Given the description of an element on the screen output the (x, y) to click on. 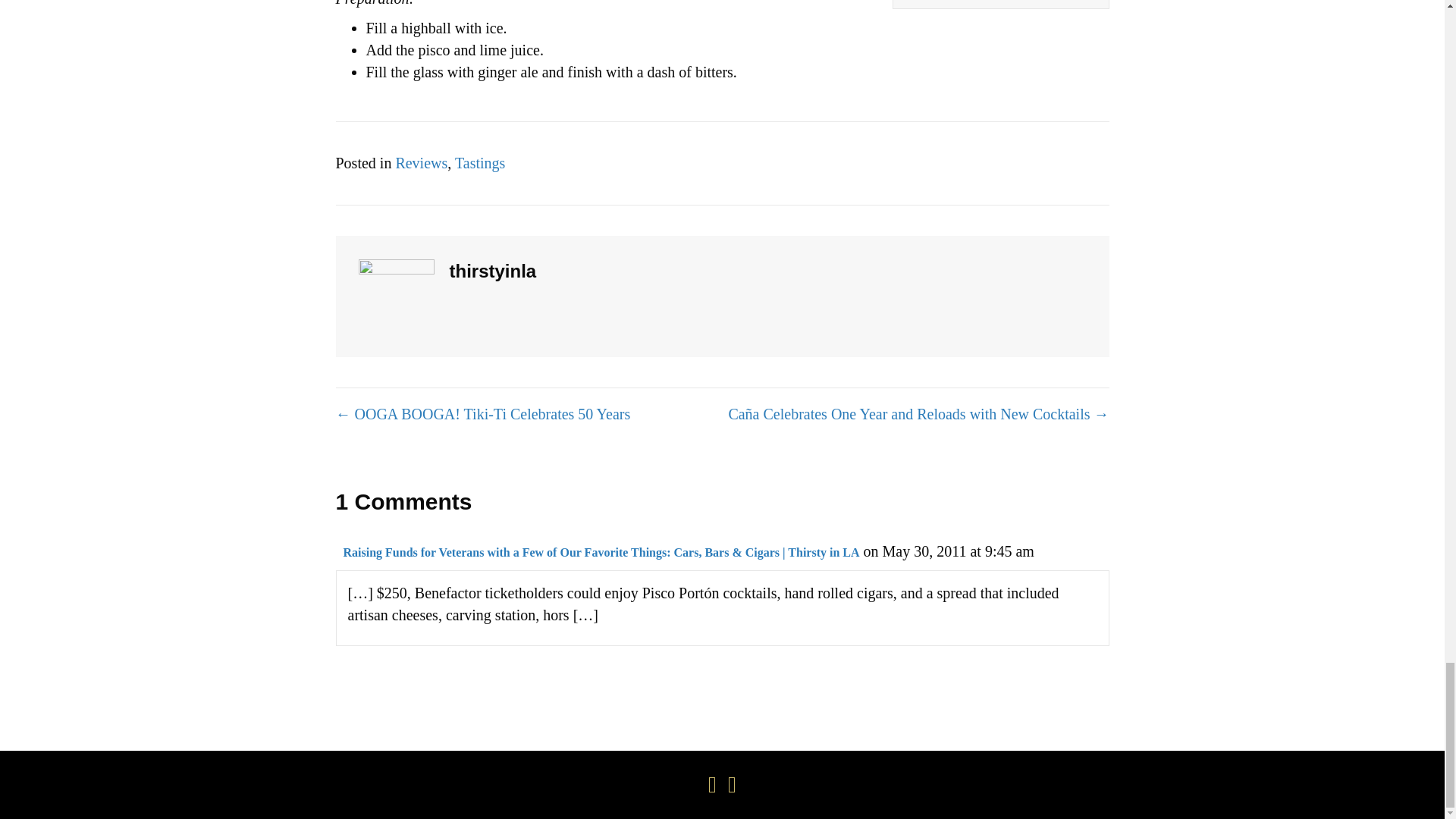
Reviews (420, 162)
Tastings (479, 162)
